Given the description of an element on the screen output the (x, y) to click on. 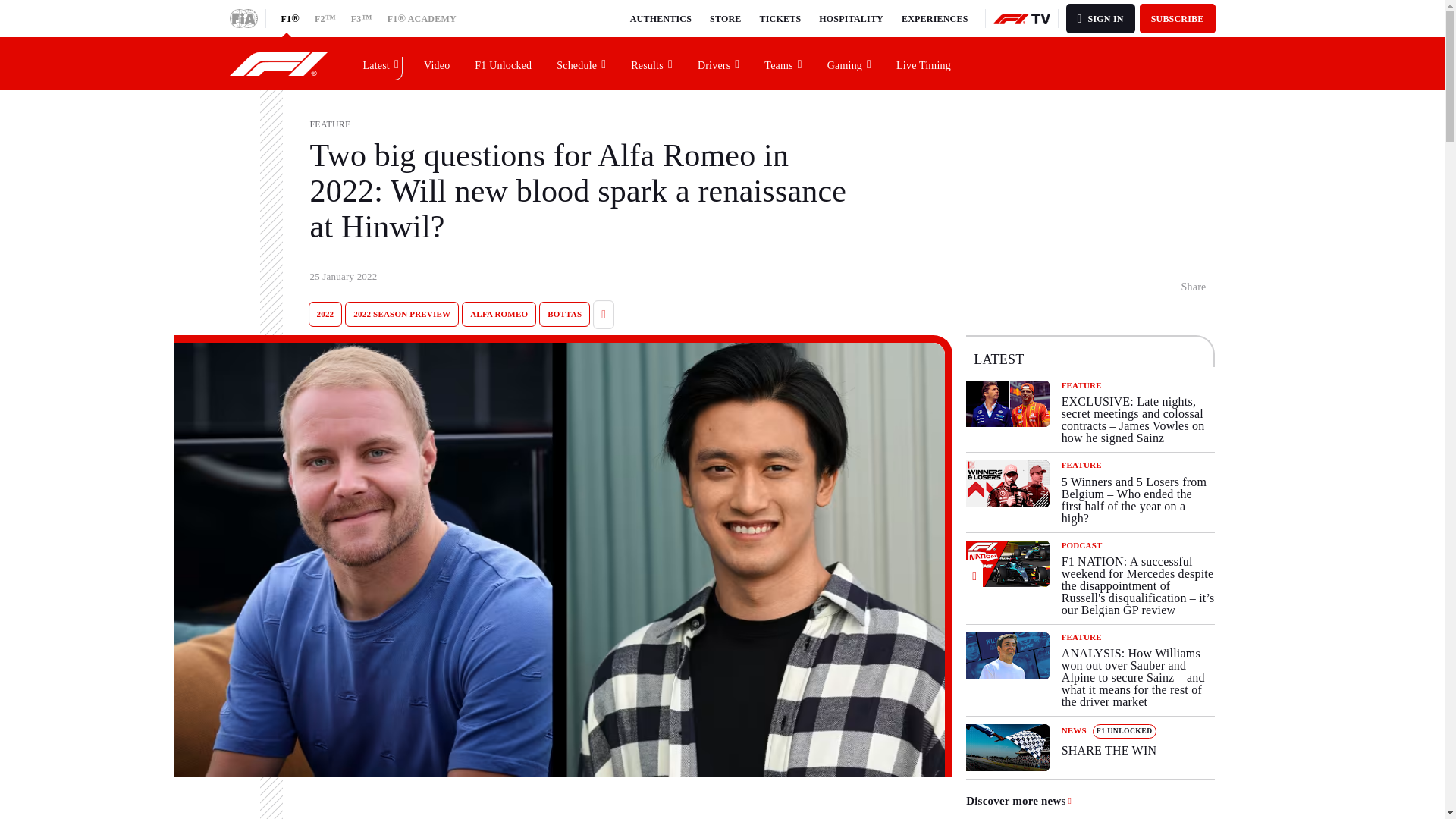
2022 (324, 314)
STORE (725, 18)
TICKETS (781, 18)
Drivers (718, 63)
Latest (380, 63)
Schedule (581, 63)
SUBSCRIBE (1177, 18)
SIGN IN (1100, 18)
HOSPITALITY (850, 18)
Gaming (1090, 747)
Video (849, 63)
F1 Unlocked (437, 63)
Teams (503, 63)
Results (782, 63)
